Given the description of an element on the screen output the (x, y) to click on. 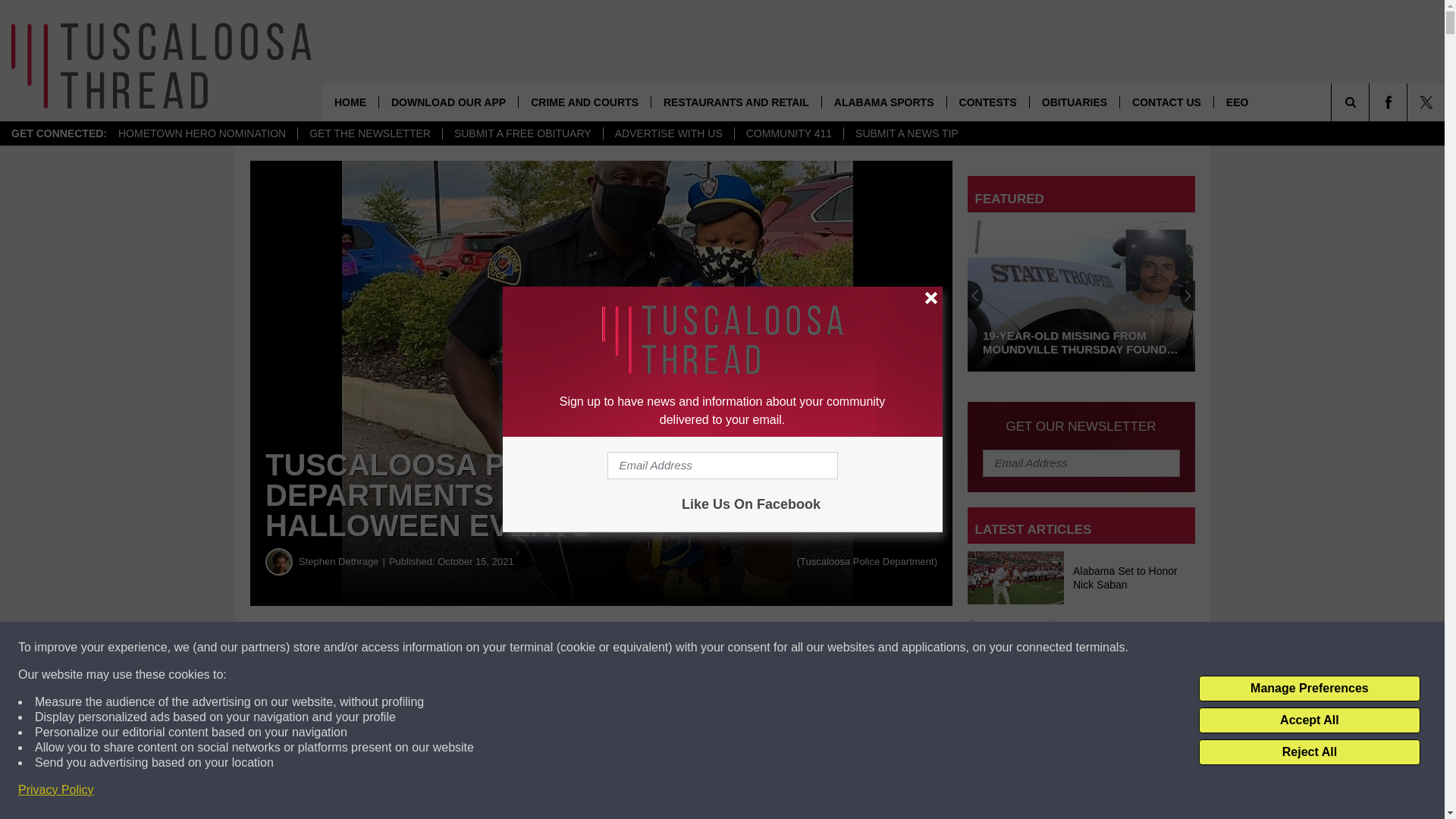
ADVERTISE WITH US (667, 133)
CONTESTS (987, 102)
SEARCH (1371, 102)
ALABAMA SPORTS (883, 102)
HOMETOWN HERO NOMINATION (201, 133)
DOWNLOAD OUR APP (448, 102)
Share on Twitter (741, 647)
OBITUARIES (1074, 102)
HOME (349, 102)
Privacy Policy (55, 789)
Email Address (1080, 461)
Accept All (1309, 720)
COMMUNITY 411 (788, 133)
Manage Preferences (1309, 688)
Share on Facebook (460, 647)
